Given the description of an element on the screen output the (x, y) to click on. 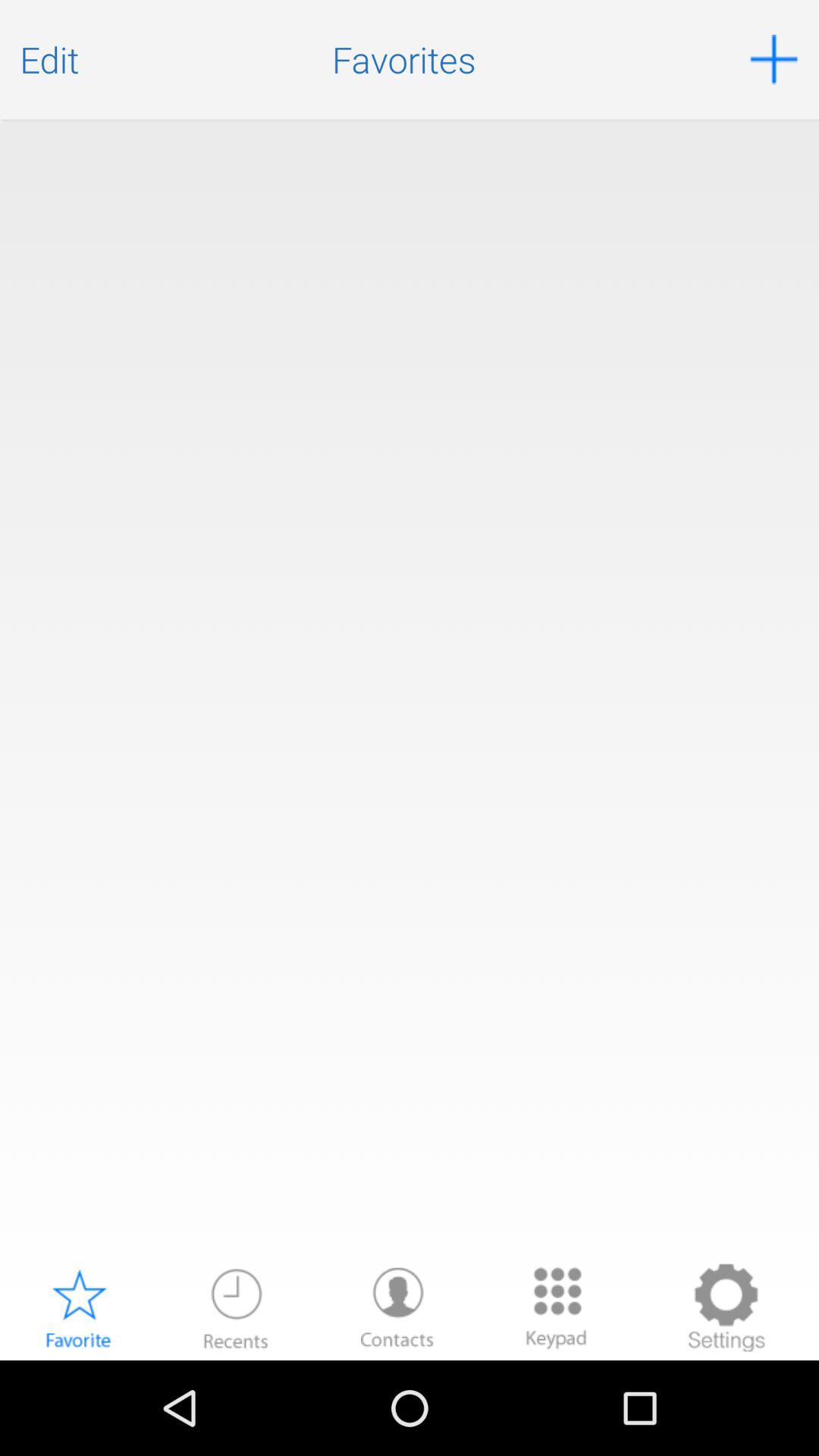
adjust settings (725, 1307)
